Given the description of an element on the screen output the (x, y) to click on. 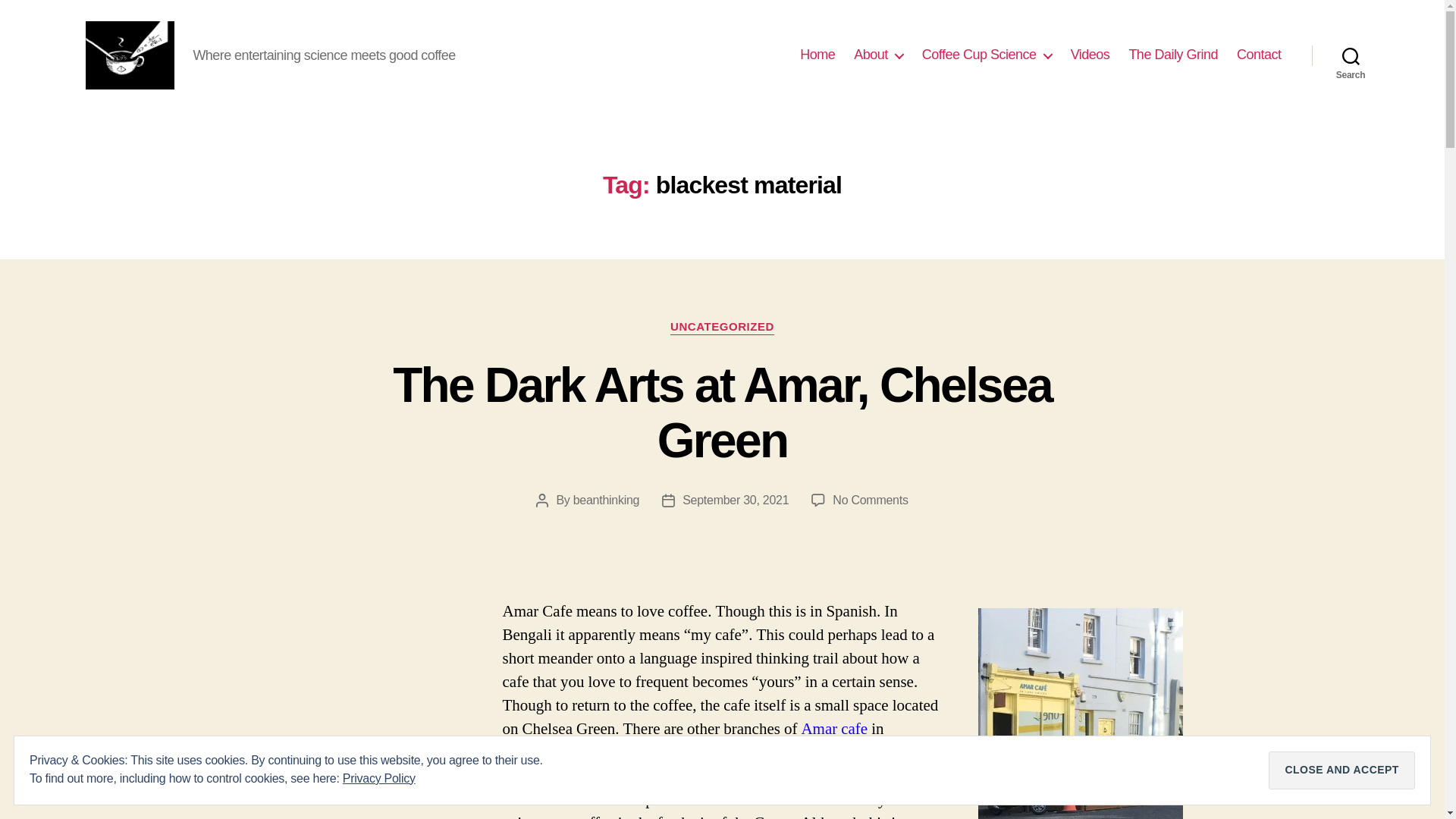
Search (1350, 55)
Home (816, 54)
The Daily Grind (1172, 54)
UNCATEGORIZED (721, 327)
Coffee Cup Science (986, 54)
About (877, 54)
The Dark Arts at Amar, Chelsea Green (722, 412)
Videos (1089, 54)
Close and accept (1341, 770)
Contact (1258, 54)
